Given the description of an element on the screen output the (x, y) to click on. 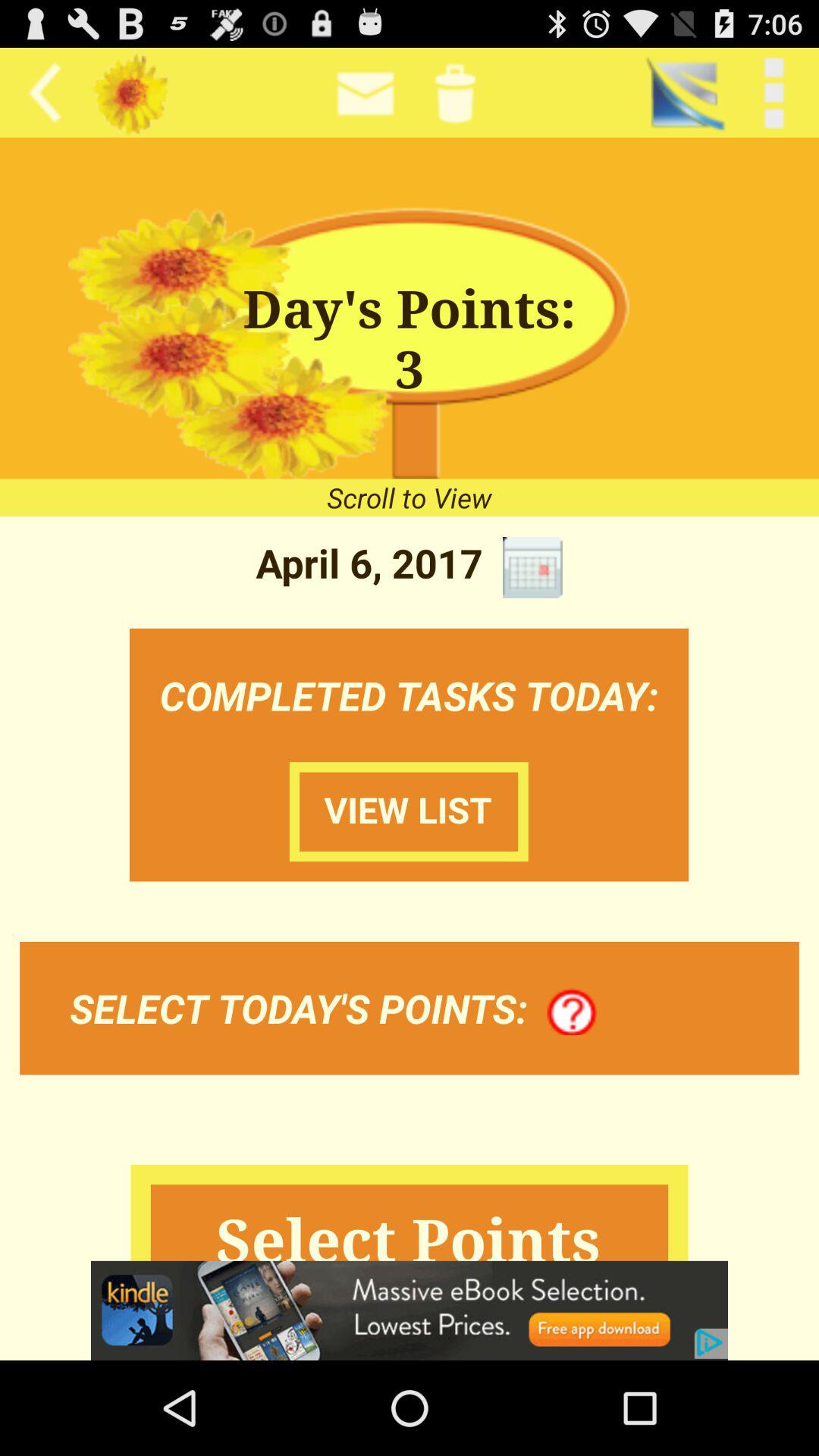
choose icon below scroll to view icon (532, 567)
